Given the description of an element on the screen output the (x, y) to click on. 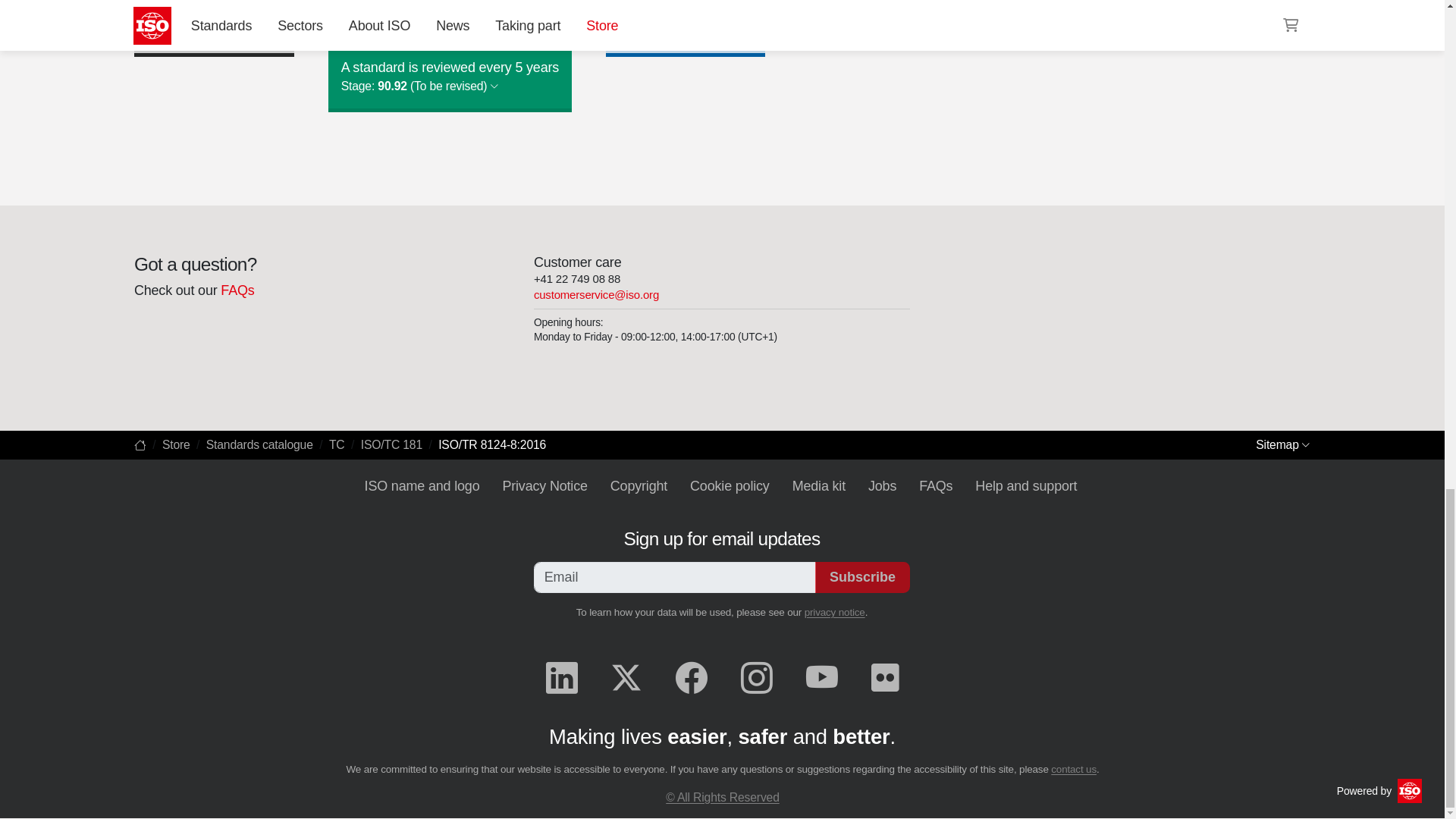
Home page (139, 444)
frequently-asked-questions-faqs (237, 290)
